Given the description of an element on the screen output the (x, y) to click on. 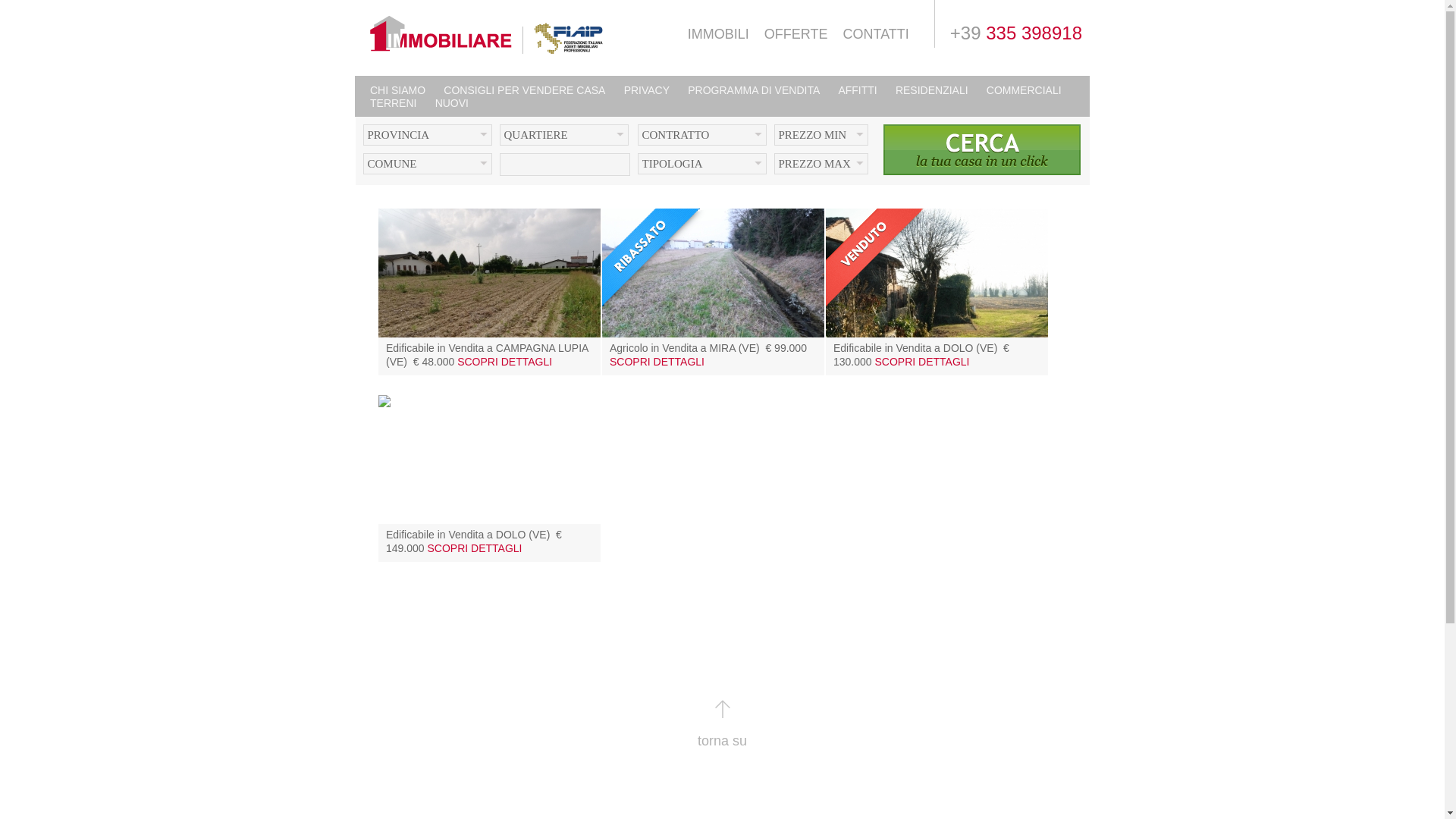
PRIVACY Element type: text (646, 90)
CHI SIAMO Element type: text (397, 90)
AFFITTI Element type: text (857, 90)
OFFERTE Element type: text (795, 34)
NUOVI Element type: text (451, 103)
PROGRAMMA DI VENDITA Element type: text (753, 90)
SCOPRI DETTAGLI Element type: text (474, 548)
RESIDENZIALI Element type: text (931, 90)
CONSIGLI PER VENDERE CASA Element type: text (524, 90)
SCOPRI DETTAGLI Element type: text (656, 361)
SCOPRI DETTAGLI Element type: text (504, 361)
COMMERCIALI Element type: text (1024, 90)
335 398918 Element type: text (1033, 32)
Cod. Riferimento Element type: hover (563, 164)
IMMOBILI Element type: text (718, 34)
torna su Element type: text (721, 740)
SCOPRI DETTAGLI Element type: text (922, 361)
TERRENI Element type: text (392, 103)
Logo Element type: hover (486, 34)
CONTATTI Element type: text (875, 34)
